Given the description of an element on the screen output the (x, y) to click on. 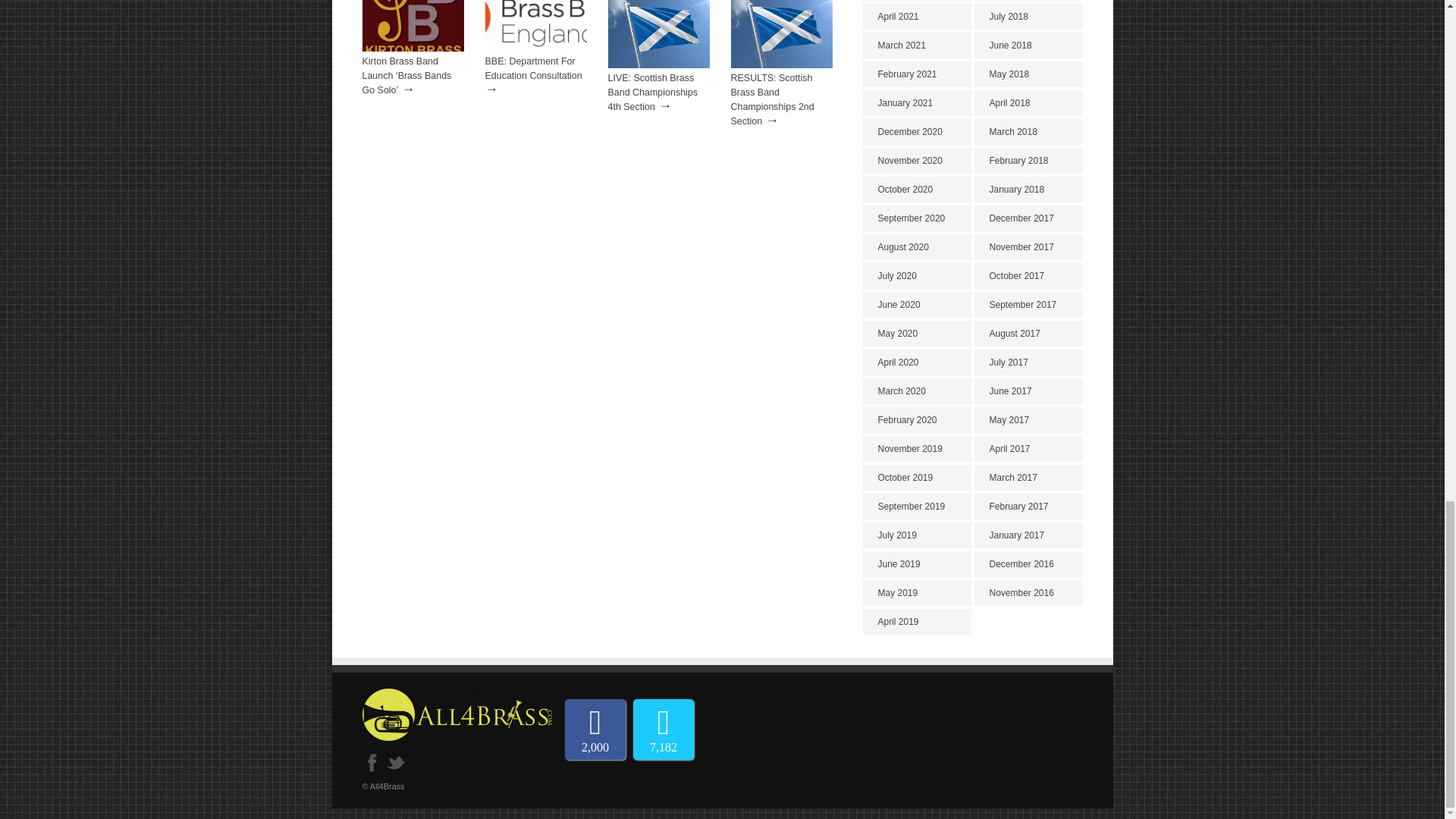
BBE: Department For Education Consultation (533, 68)
RESULTS: Scottish Brass Band Championships 2nd Section (771, 99)
BBE: Department For Education Consultation (535, 48)
BBE: Department For Education Consultation (533, 68)
LIVE: Scottish Brass Band Championships 4th Section (653, 92)
RESULTS: Scottish Brass Band Championships 2nd Section (781, 64)
LIVE: Scottish Brass Band Championships 4th Section (659, 64)
RESULTS: Scottish Brass Band Championships 2nd Section (771, 99)
LIVE: Scottish Brass Band Championships 4th Section (653, 92)
